Given the description of an element on the screen output the (x, y) to click on. 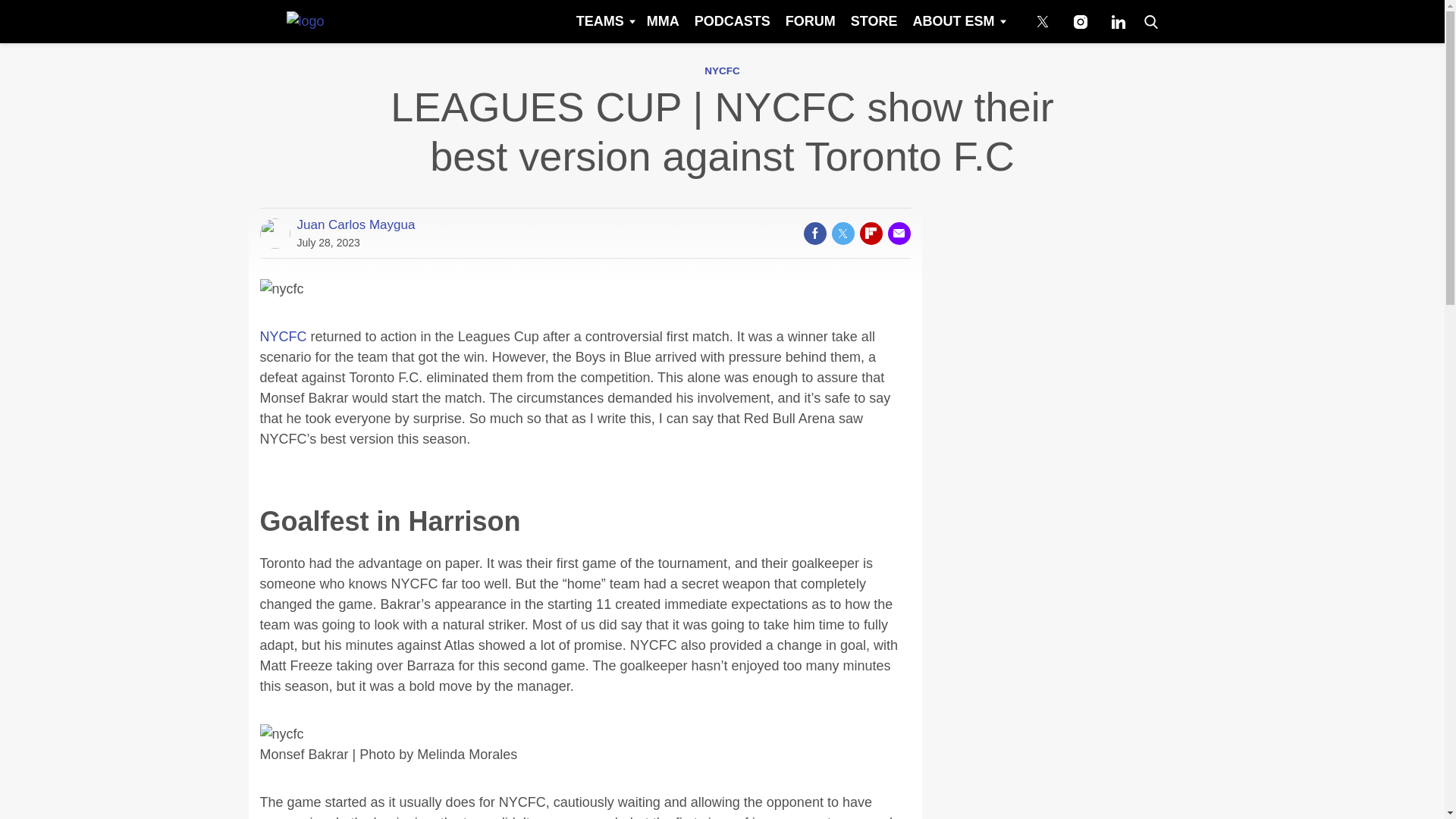
Share on Flipboard (871, 232)
NYCFC (721, 70)
Posts by Juan Carlos Maygua (355, 225)
FORUM (810, 21)
Share on Twitter (842, 232)
STORE (874, 21)
Juan Carlos Maygua (355, 225)
PODCASTS (732, 21)
MMA (663, 21)
ABOUT ESM (957, 21)
